Given the description of an element on the screen output the (x, y) to click on. 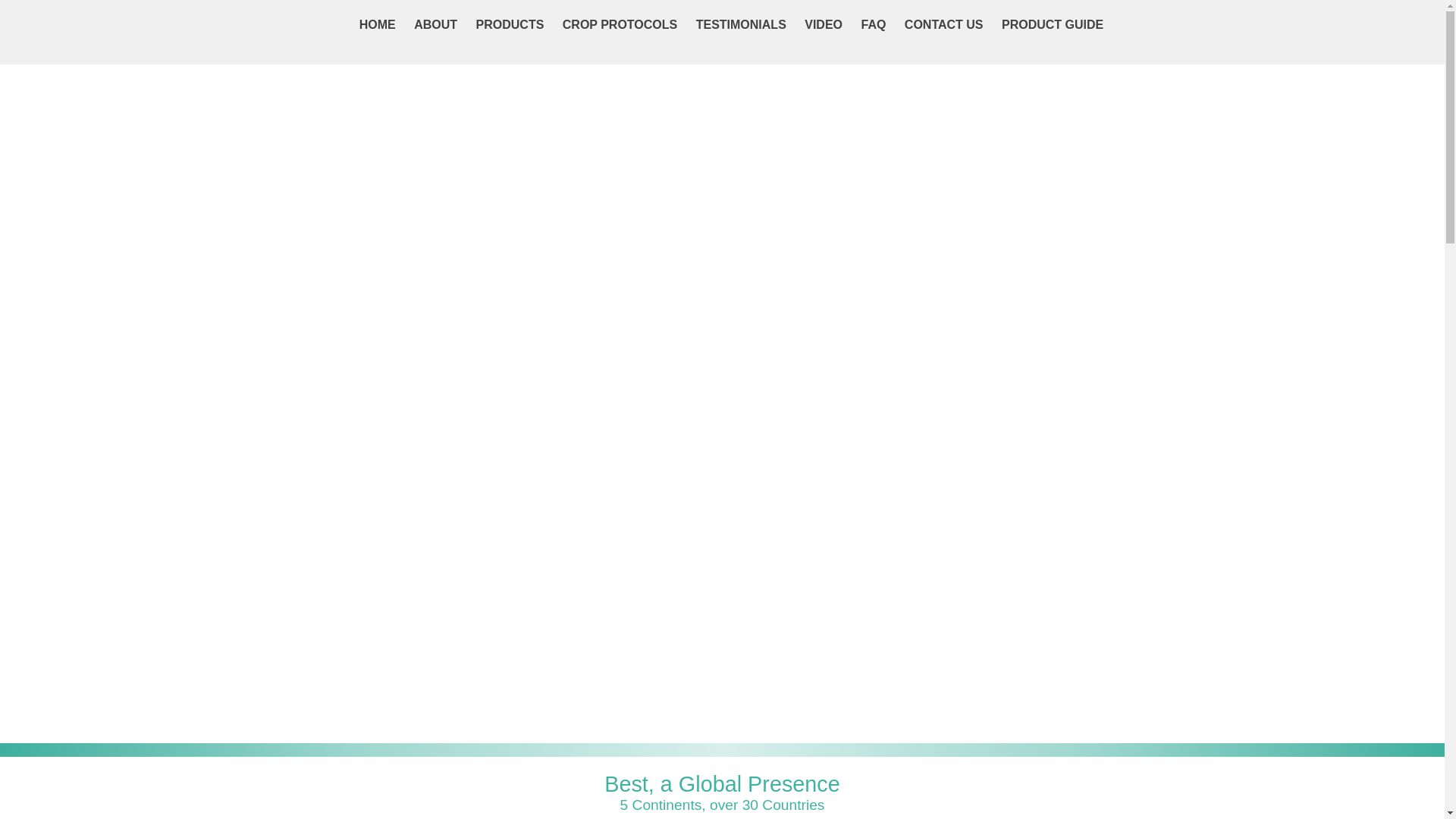
TESTIMONIALS Element type: text (741, 24)
VIDEO Element type: text (823, 24)
ABOUT Element type: text (435, 24)
HOME Element type: text (377, 24)
FAQ Element type: text (873, 24)
CROP PROTOCOLS Element type: text (619, 24)
CONTACT US Element type: text (943, 24)
PRODUCT GUIDE Element type: text (1052, 24)
PRODUCTS Element type: text (510, 24)
